Given the description of an element on the screen output the (x, y) to click on. 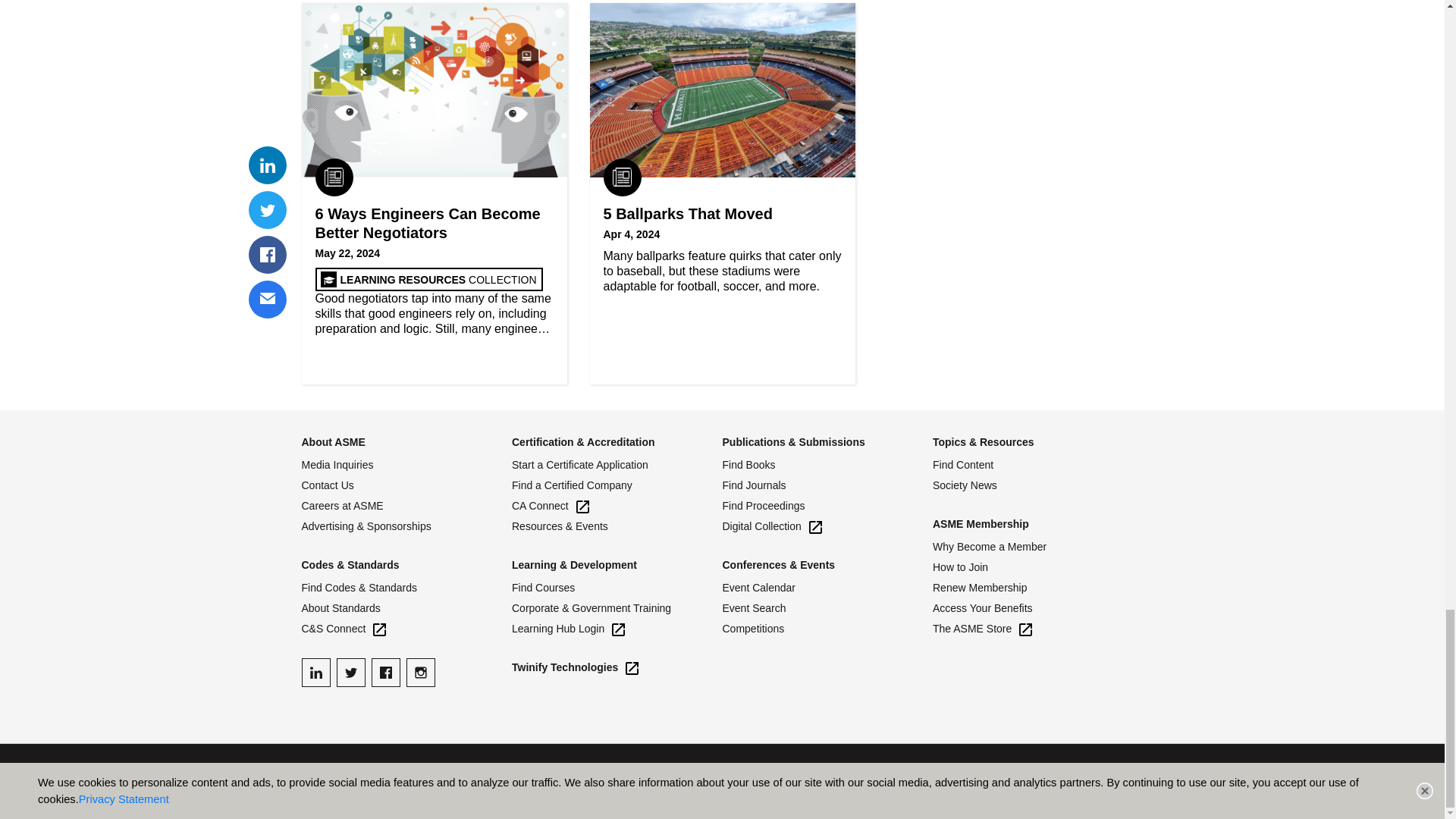
ASME on Instagram (420, 672)
ASME on Facebook (385, 672)
ASME on Twitter (350, 672)
ASME on LinkedIn (315, 672)
